Given the description of an element on the screen output the (x, y) to click on. 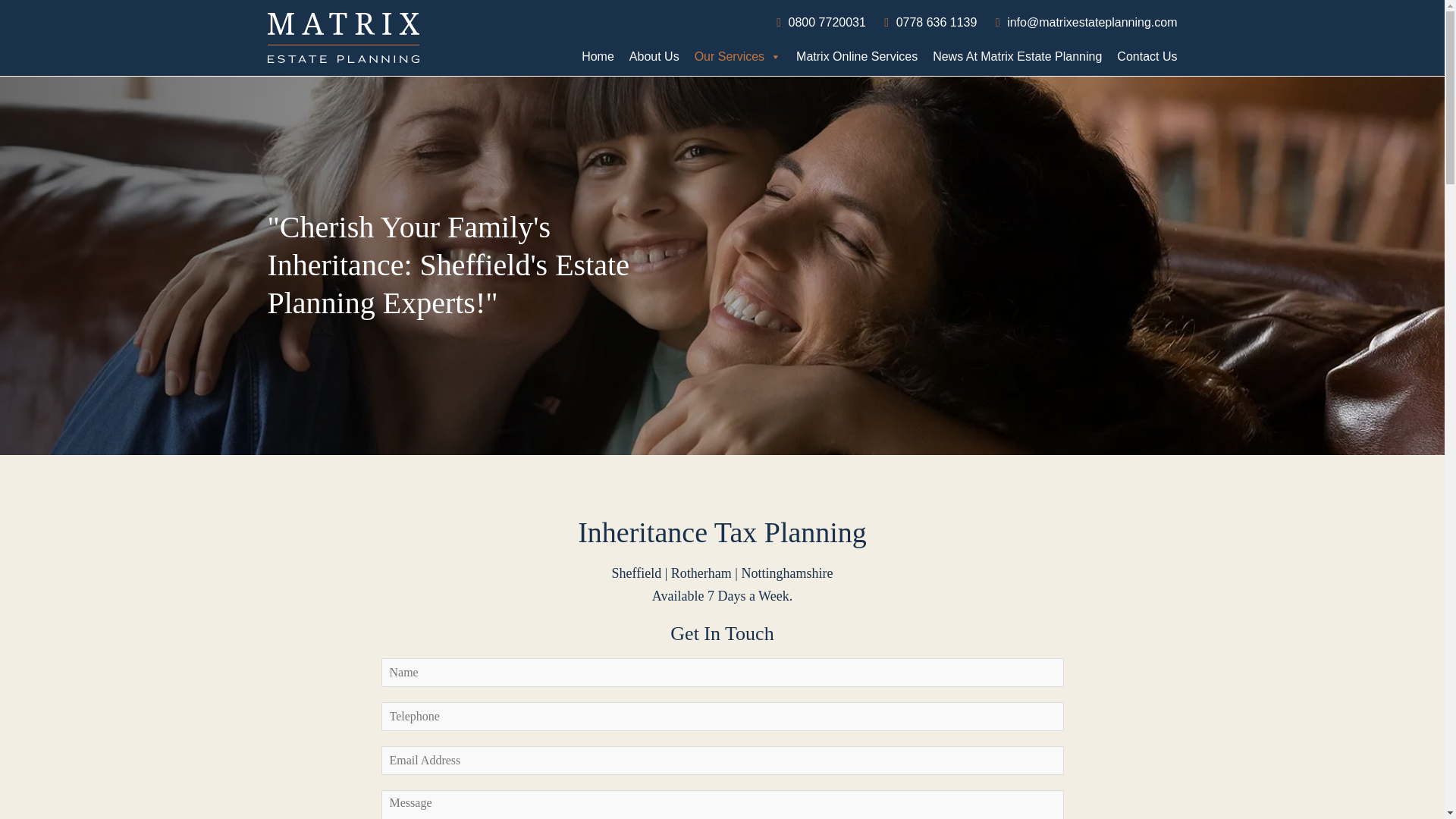
News At Matrix Estate Planning (1016, 56)
0778 636 1139 (937, 21)
Home (597, 56)
Our Services (738, 56)
Matrix Online Services (856, 56)
Contact Us (1142, 56)
About Us (654, 56)
